Given the description of an element on the screen output the (x, y) to click on. 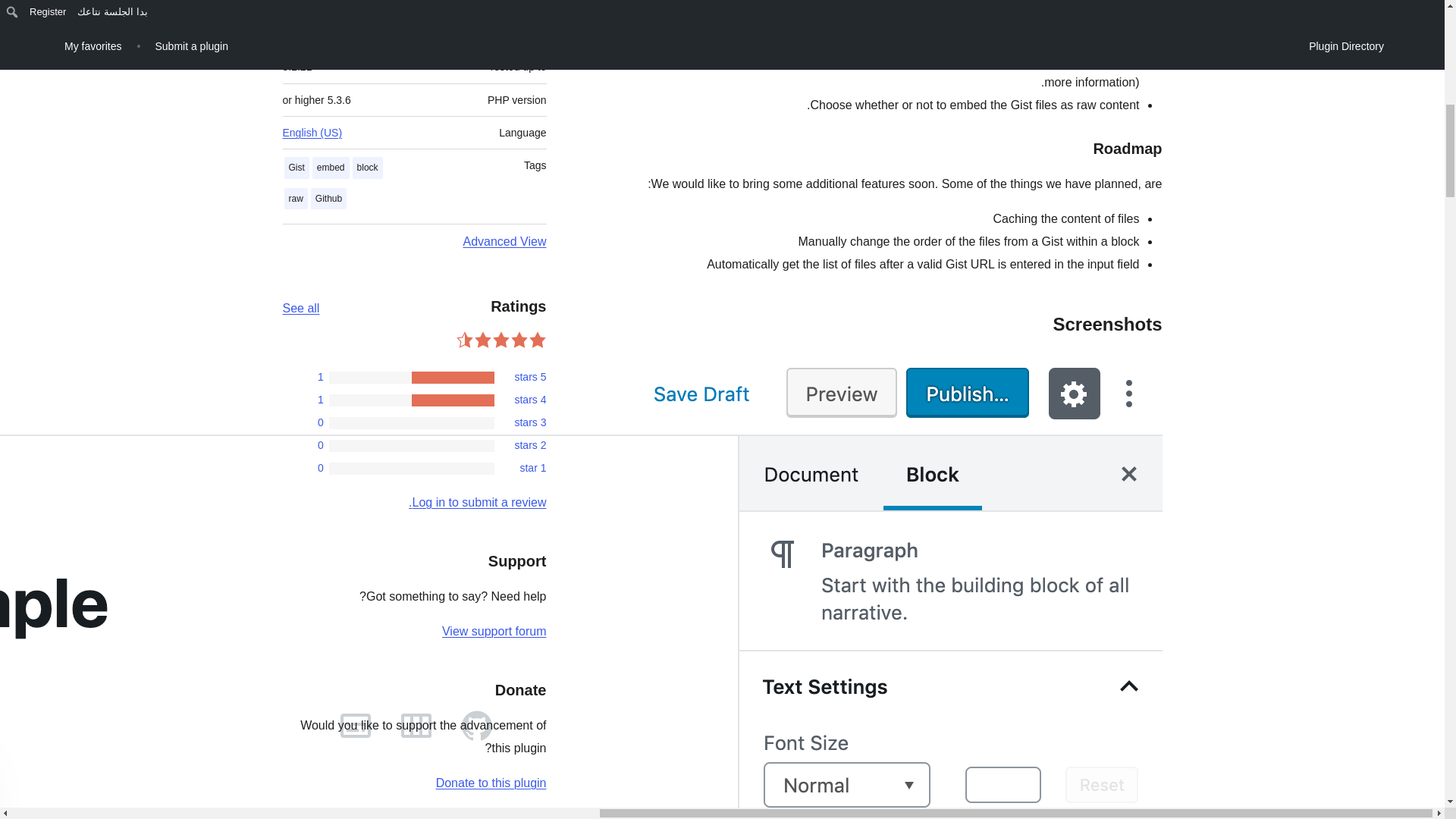
Log in to WordPress.org (477, 502)
